Given the description of an element on the screen output the (x, y) to click on. 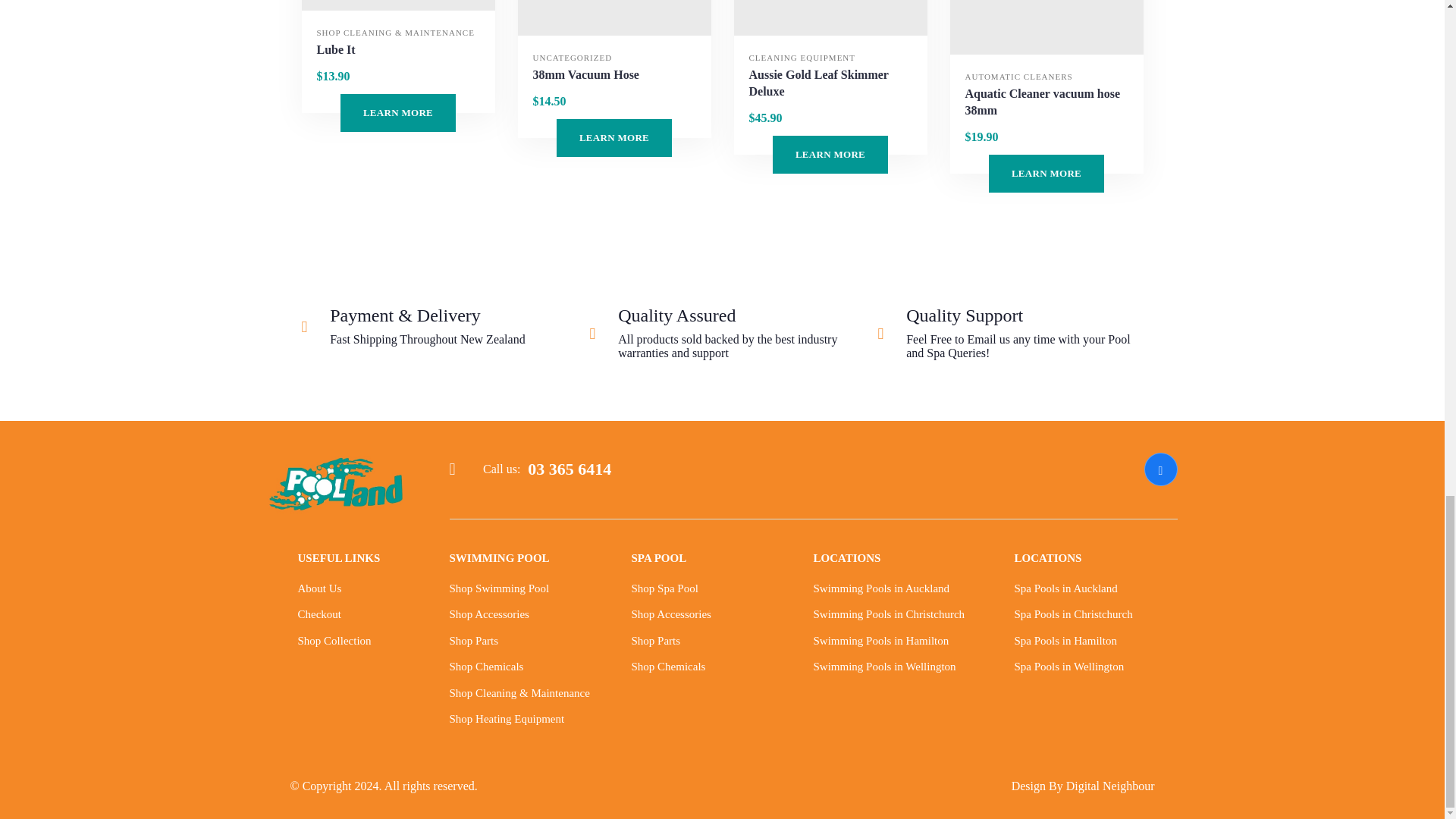
Lube It (336, 49)
Aussie Gold Leaf Skimmer Deluxe (830, 18)
Lube It (398, 5)
Aussie Gold Leaf Skimmer Deluxe (830, 82)
Aquatic Cleaner vacuum hose 38mm (1044, 101)
38mm Vacuum Hose (613, 18)
Aquatic Cleaner vacuum hose 38mm (1045, 27)
38mm Vacuum Hose (585, 74)
